Given the description of an element on the screen output the (x, y) to click on. 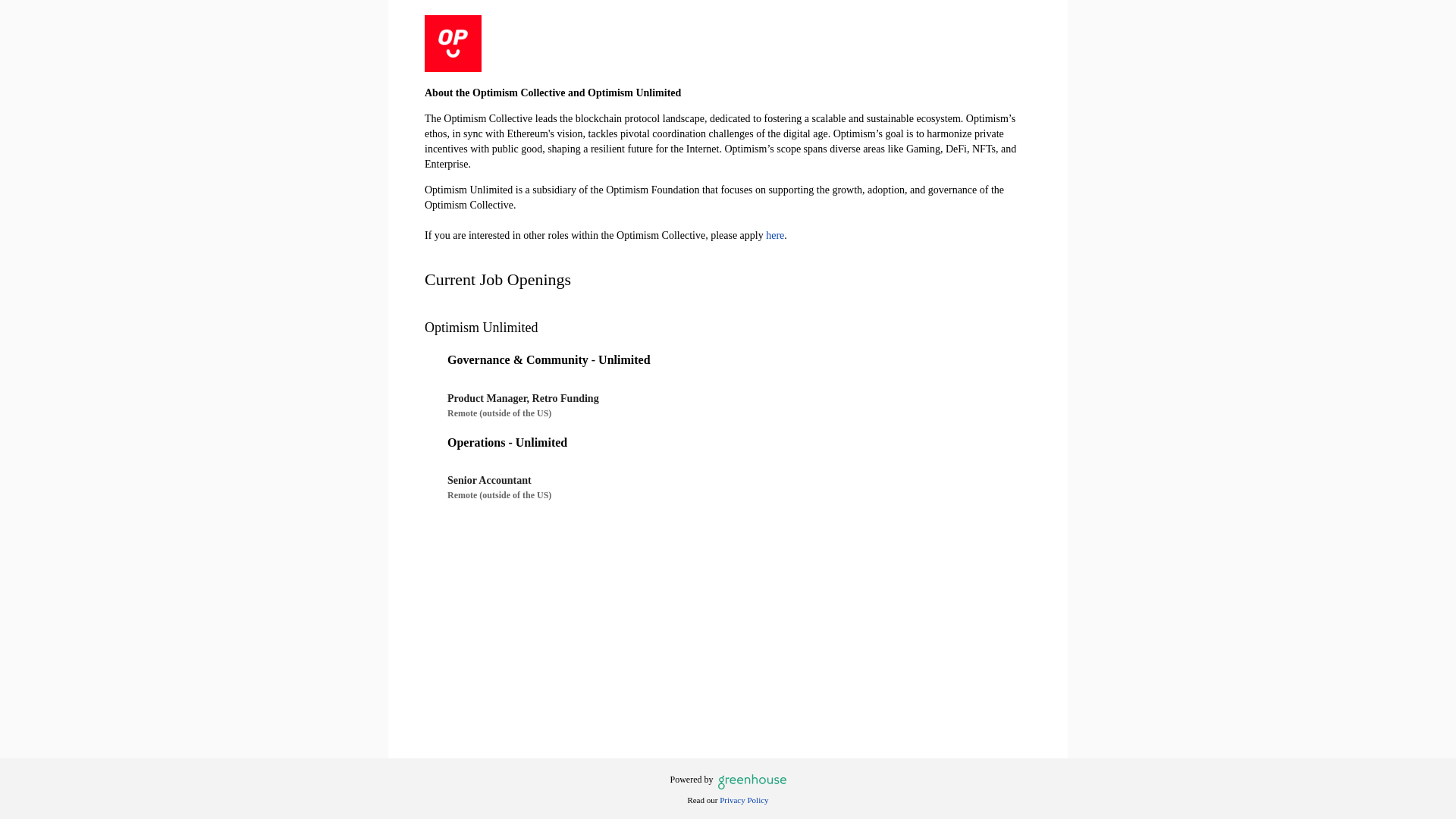
Privacy Policy (743, 799)
here (774, 235)
Product Manager, Retro Funding (731, 403)
Senior Accountant (731, 485)
